Given the description of an element on the screen output the (x, y) to click on. 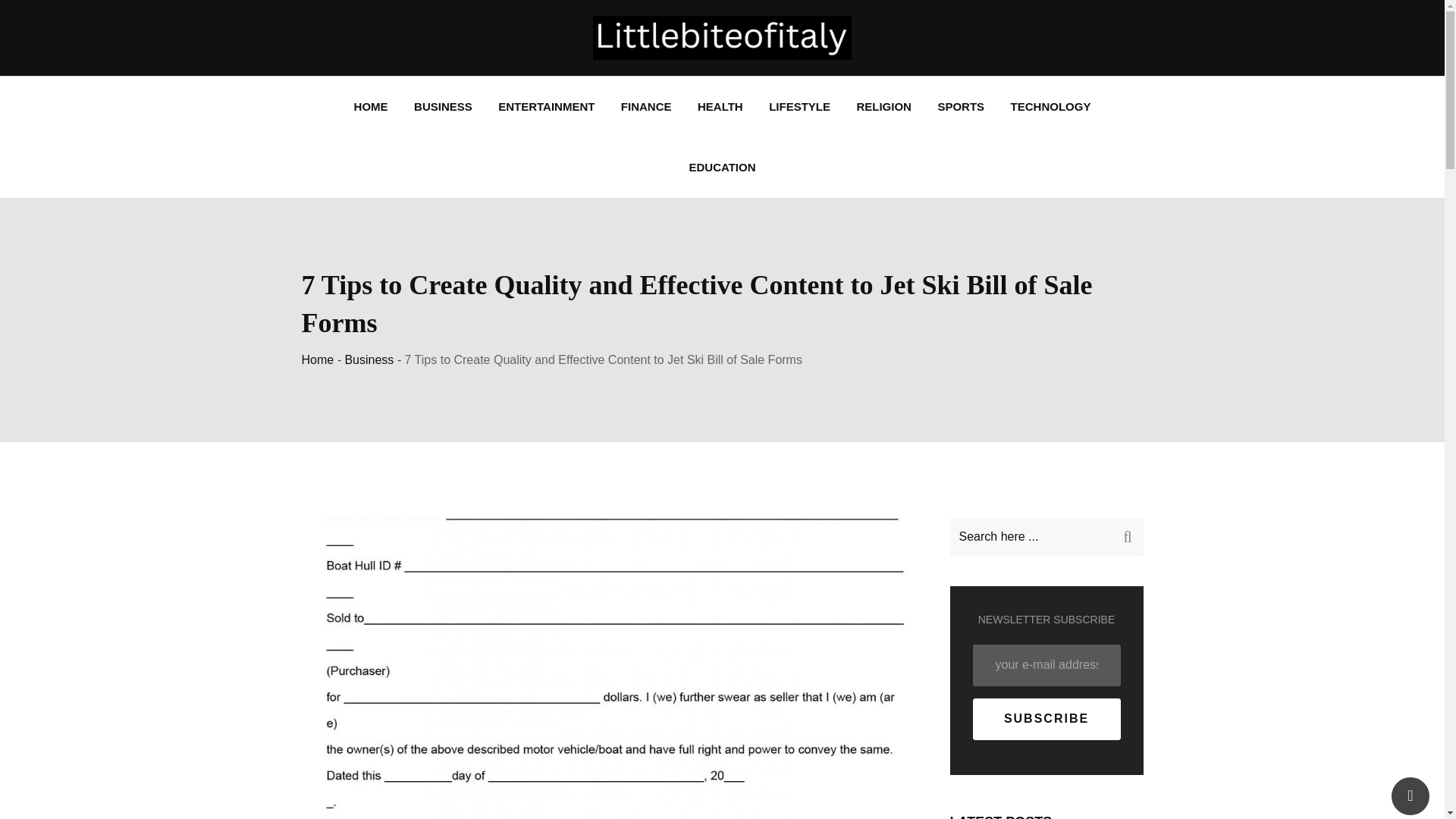
TECHNOLOGY (1050, 106)
SPORTS (960, 106)
SUBSCRIBE (1045, 719)
LIFESTYLE (799, 106)
Business (368, 359)
Home (317, 359)
HEALTH (719, 106)
BUSINESS (443, 106)
EDUCATION (722, 167)
ENTERTAINMENT (545, 106)
HOME (370, 106)
FINANCE (646, 106)
RELIGION (883, 106)
